Given the description of an element on the screen output the (x, y) to click on. 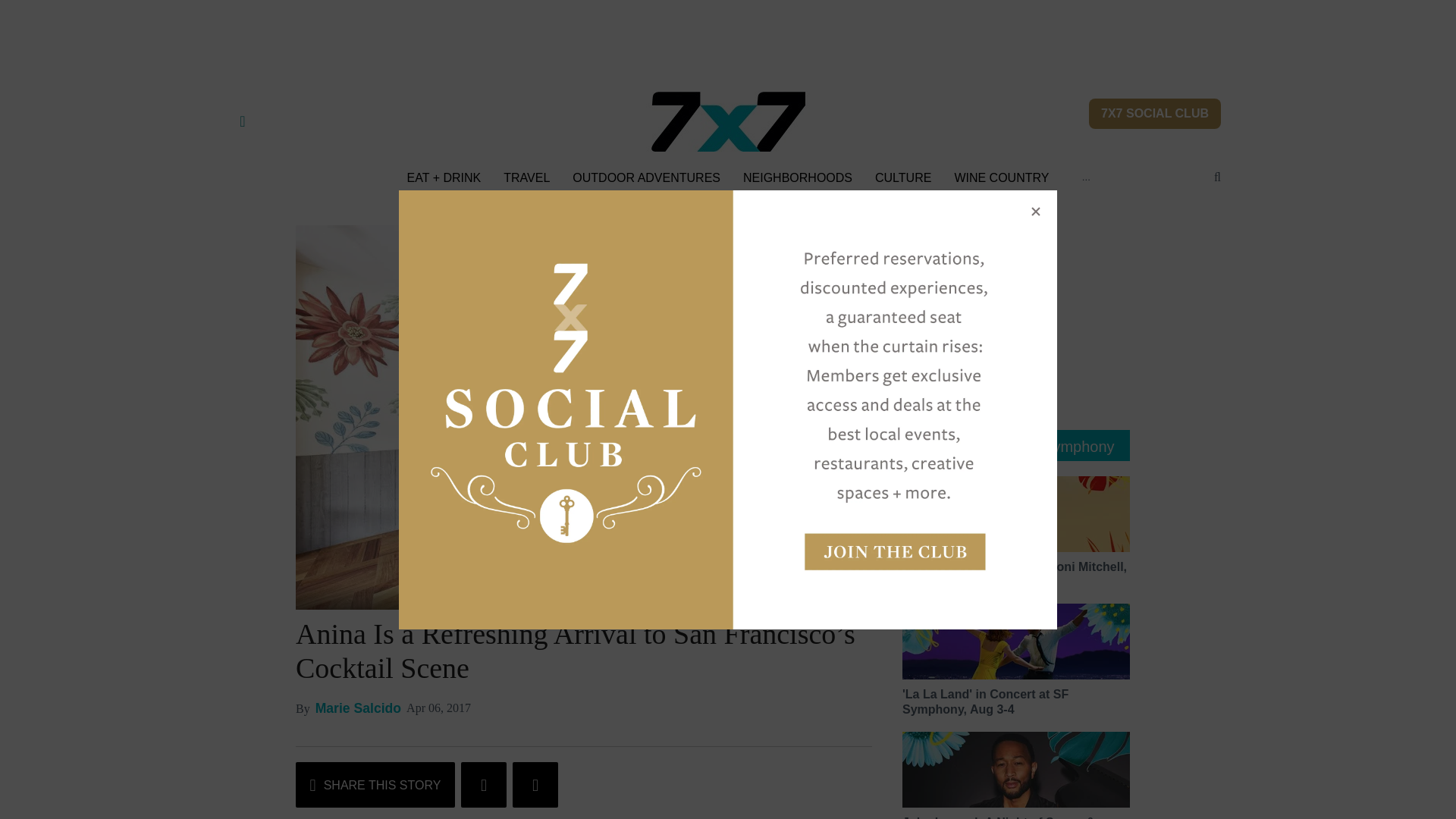
OUTDOOR ADVENTURES (646, 177)
CULTURE (903, 177)
TRAVEL (526, 177)
7X7 SOCIAL CLUB (1155, 113)
WINE COUNTRY (1000, 177)
3rd party ad content (1015, 319)
3rd party ad content (727, 33)
NEIGHBORHOODS (796, 177)
